Given the description of an element on the screen output the (x, y) to click on. 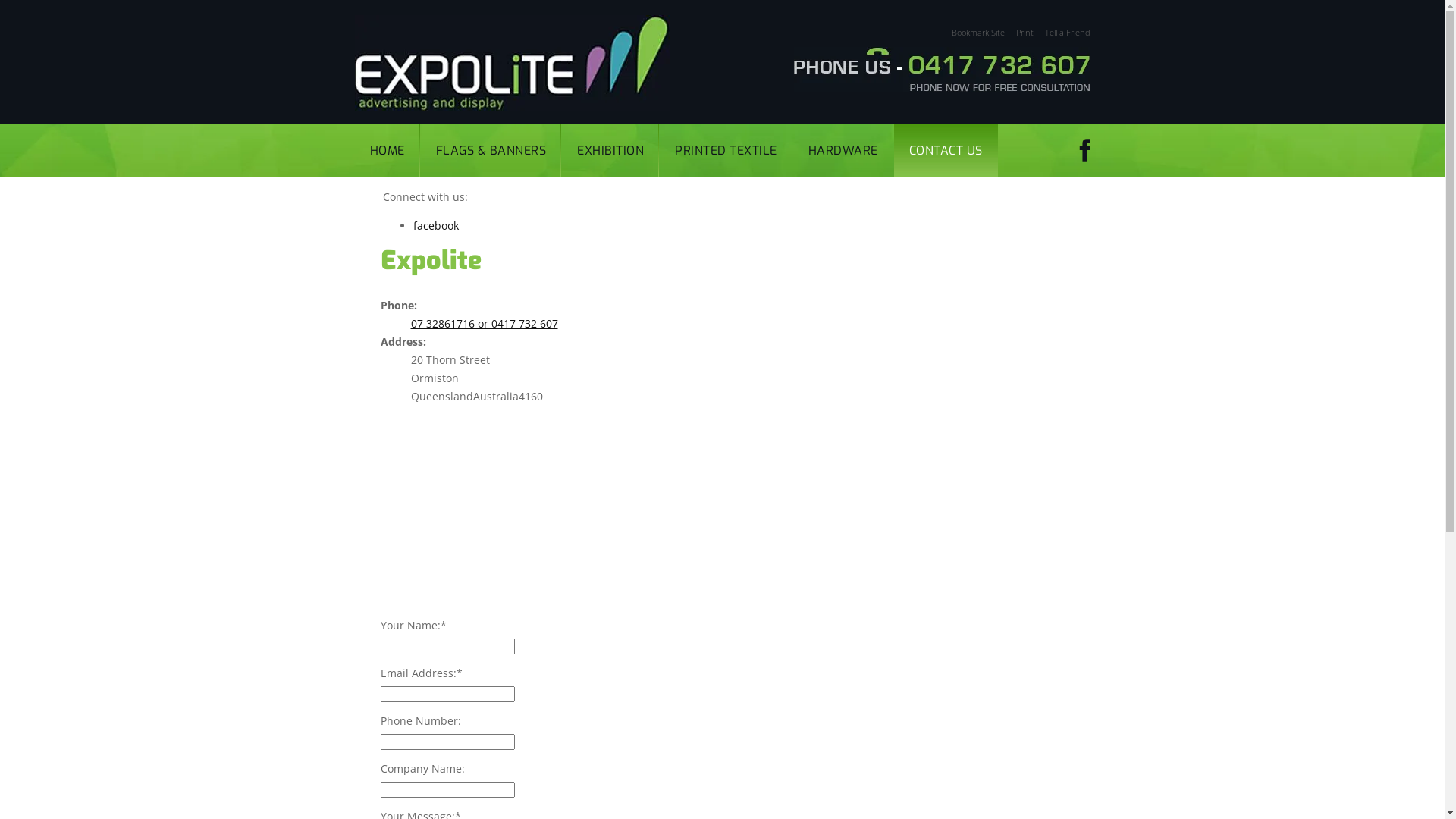
FLAGS & BANNERS Element type: text (490, 149)
HARDWARE Element type: text (843, 149)
Tell a Friend Element type: text (1060, 31)
facebook Element type: text (1083, 149)
HOME Element type: text (387, 149)
Bookmark Site Element type: text (972, 31)
CONTACT US Element type: text (945, 149)
07 32861716 or 0417 732 607 Element type: text (484, 323)
facebook Element type: text (435, 225)
EXHIBITION Element type: text (609, 149)
PRINTED TEXTILE Element type: text (725, 149)
Print Element type: text (1018, 31)
